Given the description of an element on the screen output the (x, y) to click on. 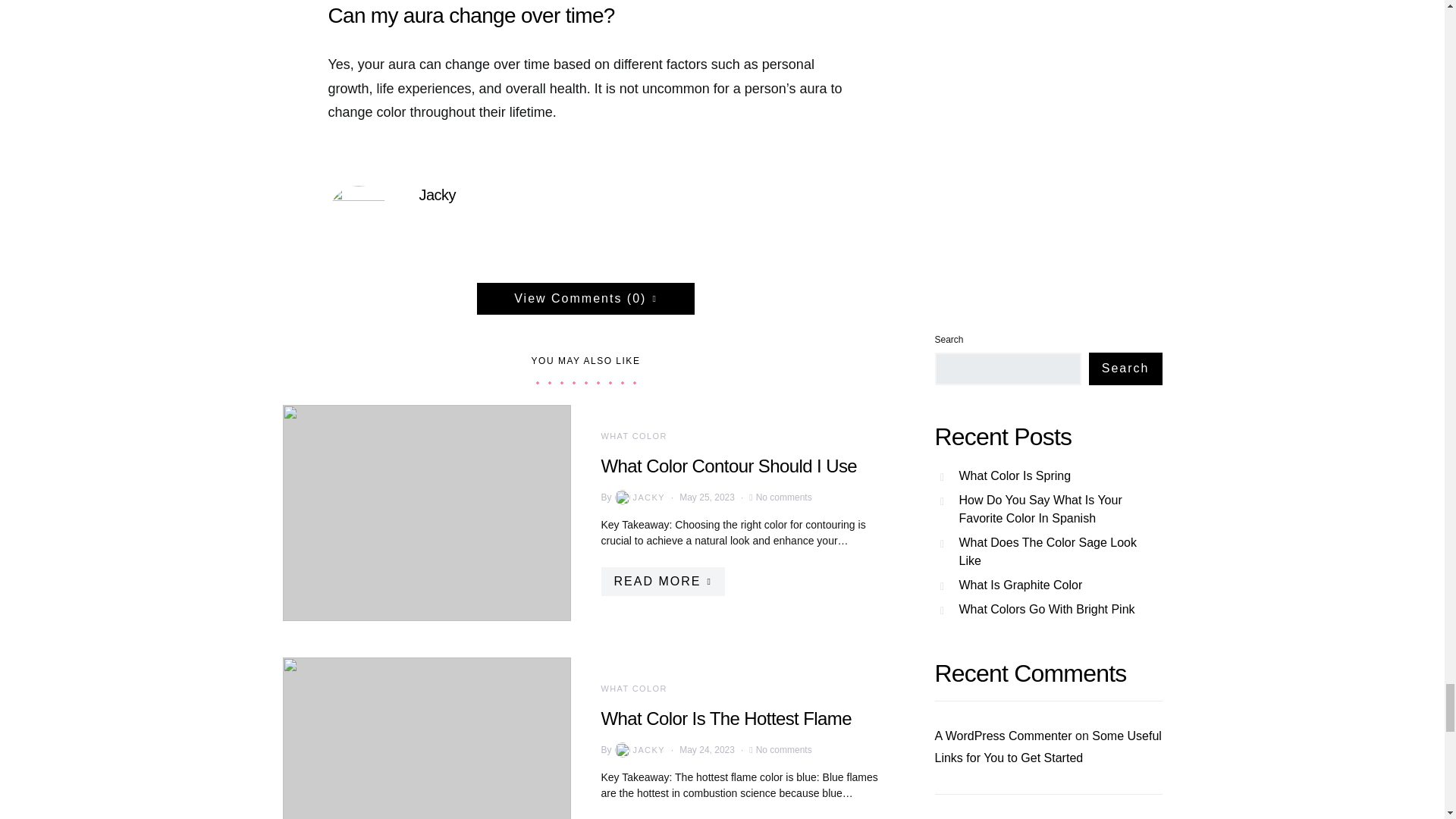
WHAT COLOR (632, 687)
View all posts by Jacky (638, 497)
READ MORE (661, 581)
No comments (783, 497)
Jacky (437, 194)
JACKY (638, 497)
WHAT COLOR (632, 435)
JACKY (638, 749)
What Color Contour Should I Use (728, 465)
View all posts by Jacky (638, 749)
What Color Is The Hottest Flame (724, 718)
No comments (783, 749)
